Given the description of an element on the screen output the (x, y) to click on. 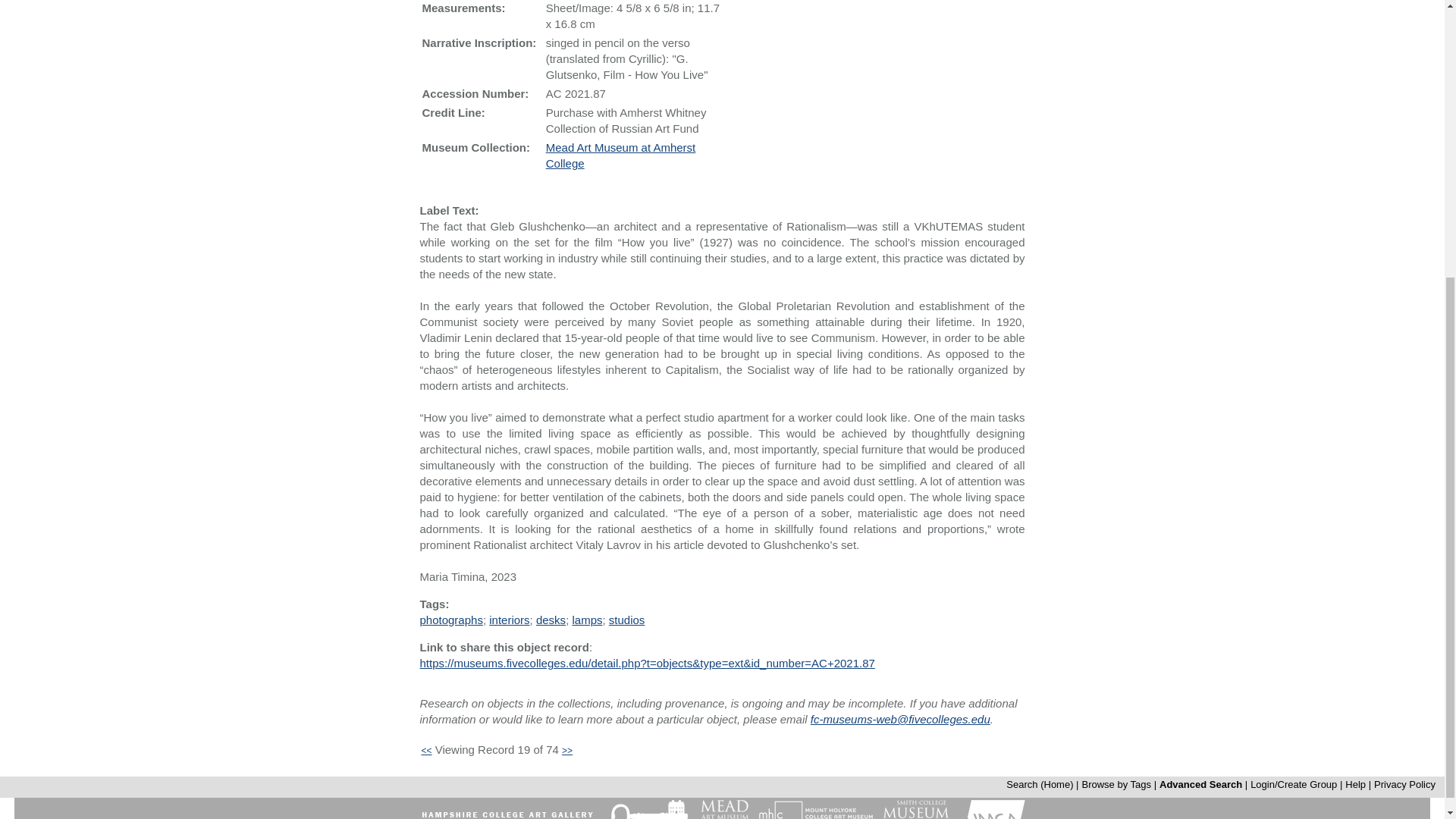
desks (550, 619)
Help (1355, 784)
Browse by Tags (1116, 784)
photographs (450, 619)
lamps (587, 619)
interiors (509, 619)
Mead Art Museum at Amherst College (620, 154)
Privacy Policy (1404, 784)
studios (626, 619)
Advanced Search (1199, 784)
